Given the description of an element on the screen output the (x, y) to click on. 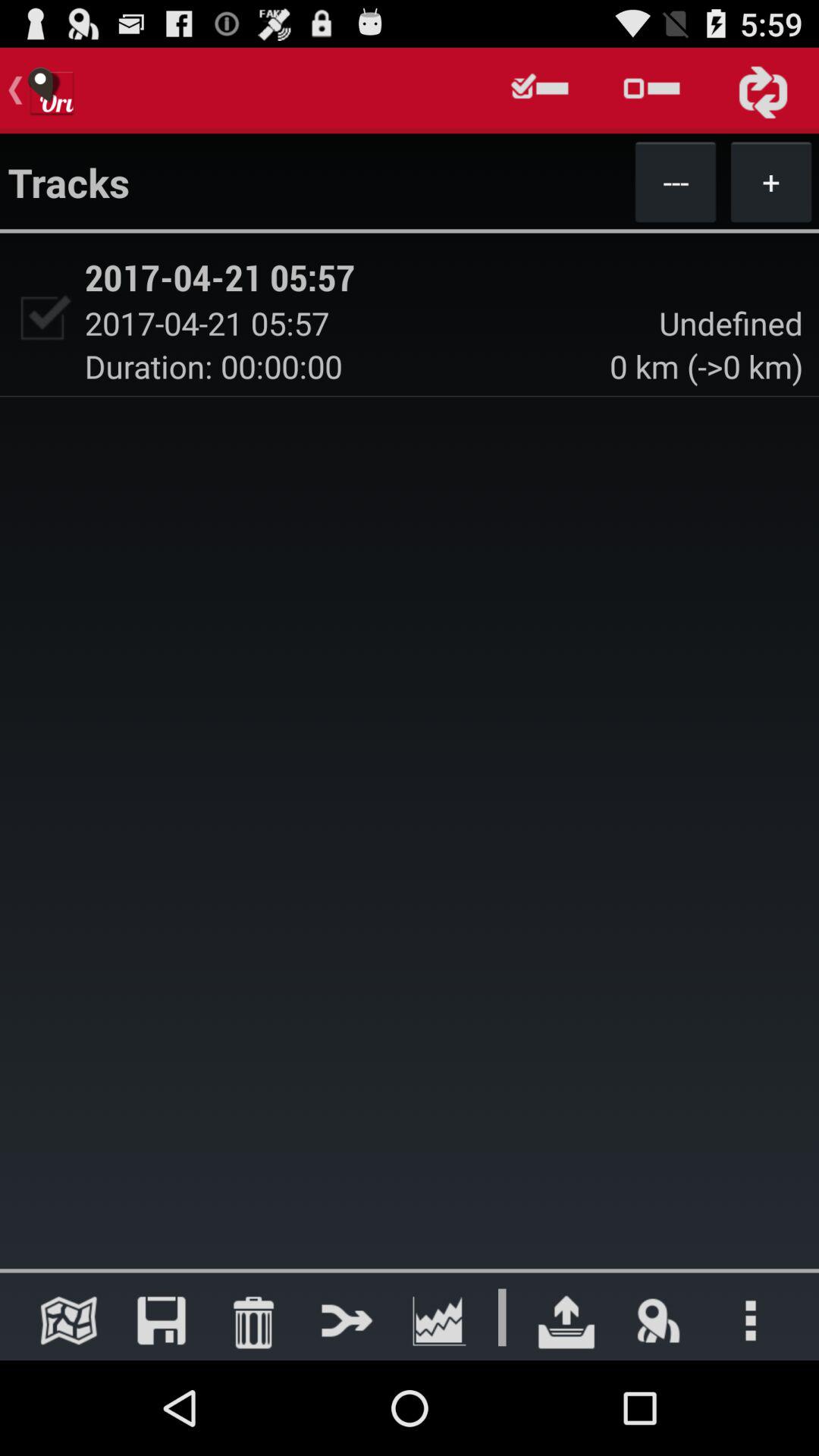
pinpoint location (658, 1320)
